Given the description of an element on the screen output the (x, y) to click on. 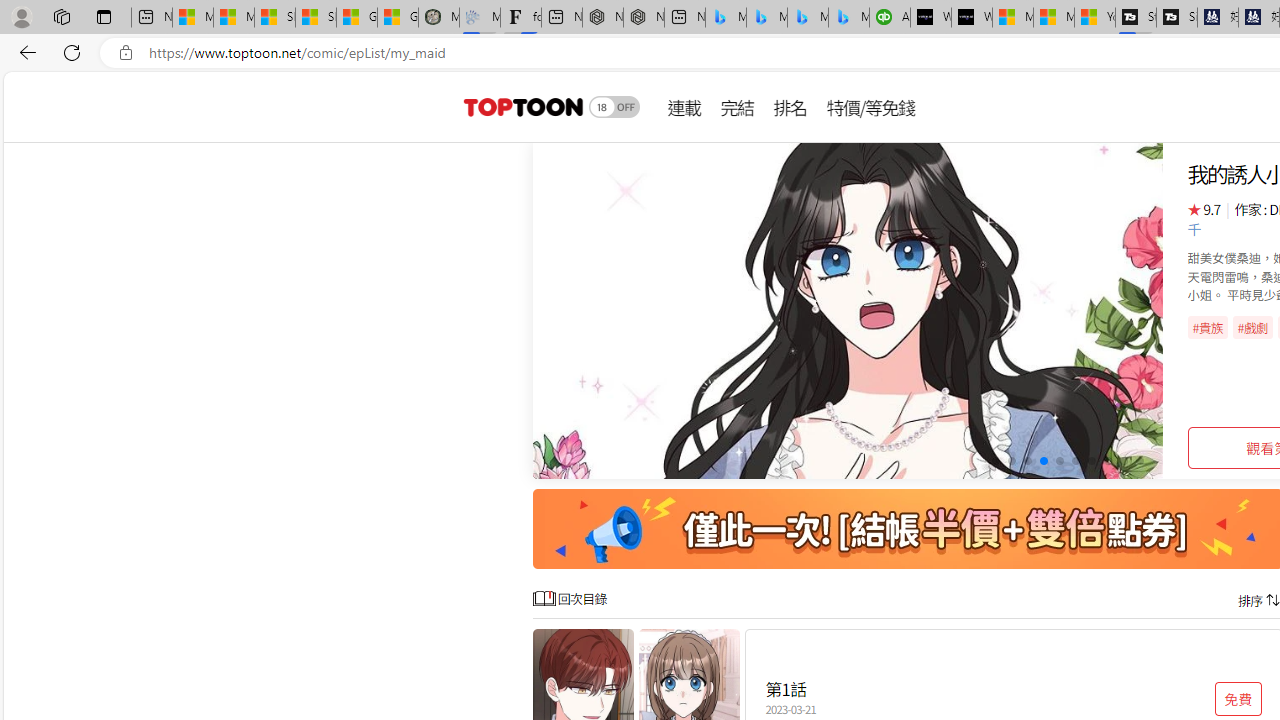
Shanghai, China weather forecast | Microsoft Weather (315, 17)
Class: swiper-slide swiper-slide-active (847, 310)
Go to slide 7 (1090, 461)
Gilma and Hector both pose tropical trouble for Hawaii (397, 17)
header (519, 106)
Go to slide 9 (1122, 461)
Go to slide 3 (1026, 461)
